Given the description of an element on the screen output the (x, y) to click on. 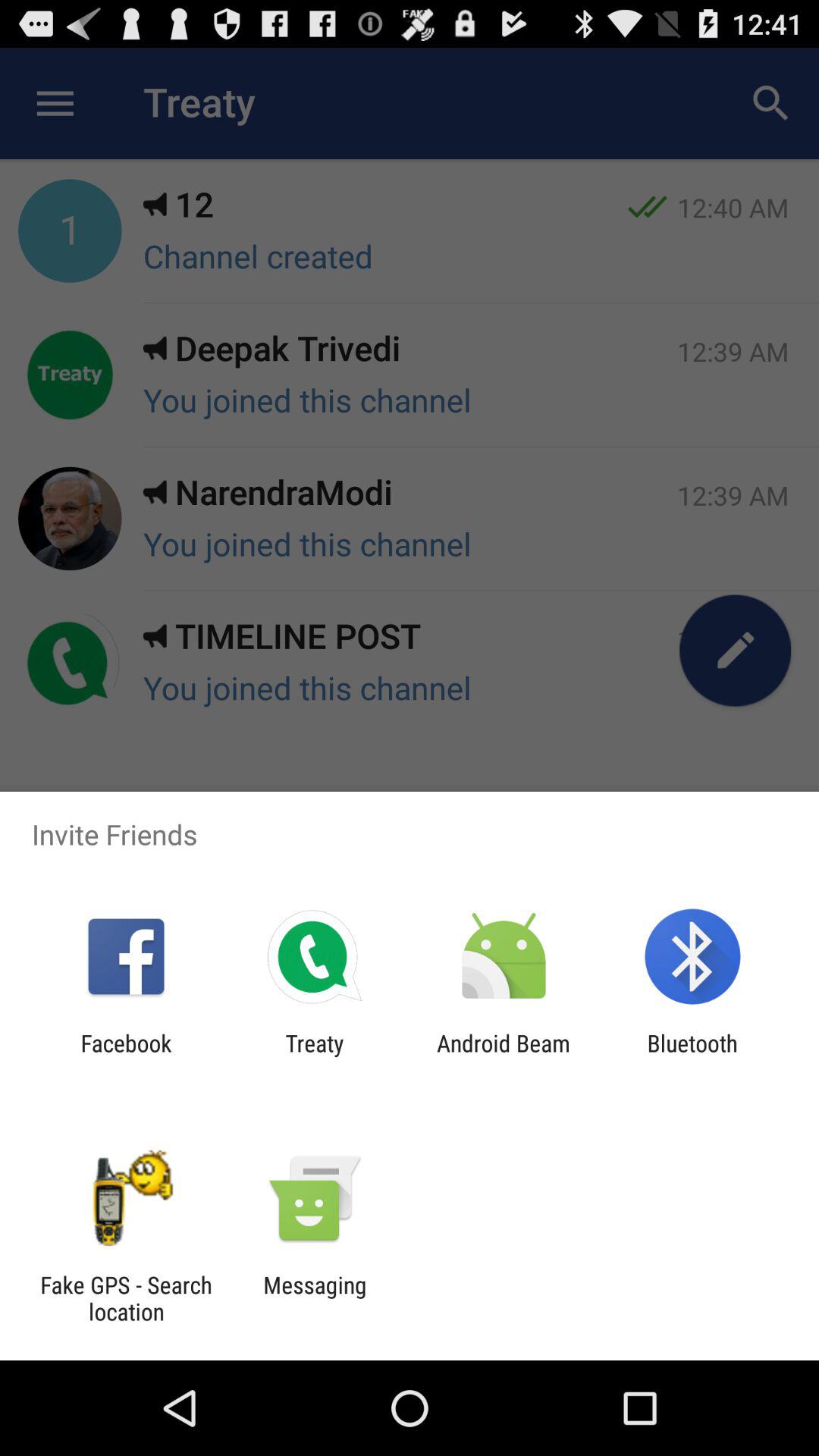
launch the item next to bluetooth (503, 1056)
